Given the description of an element on the screen output the (x, y) to click on. 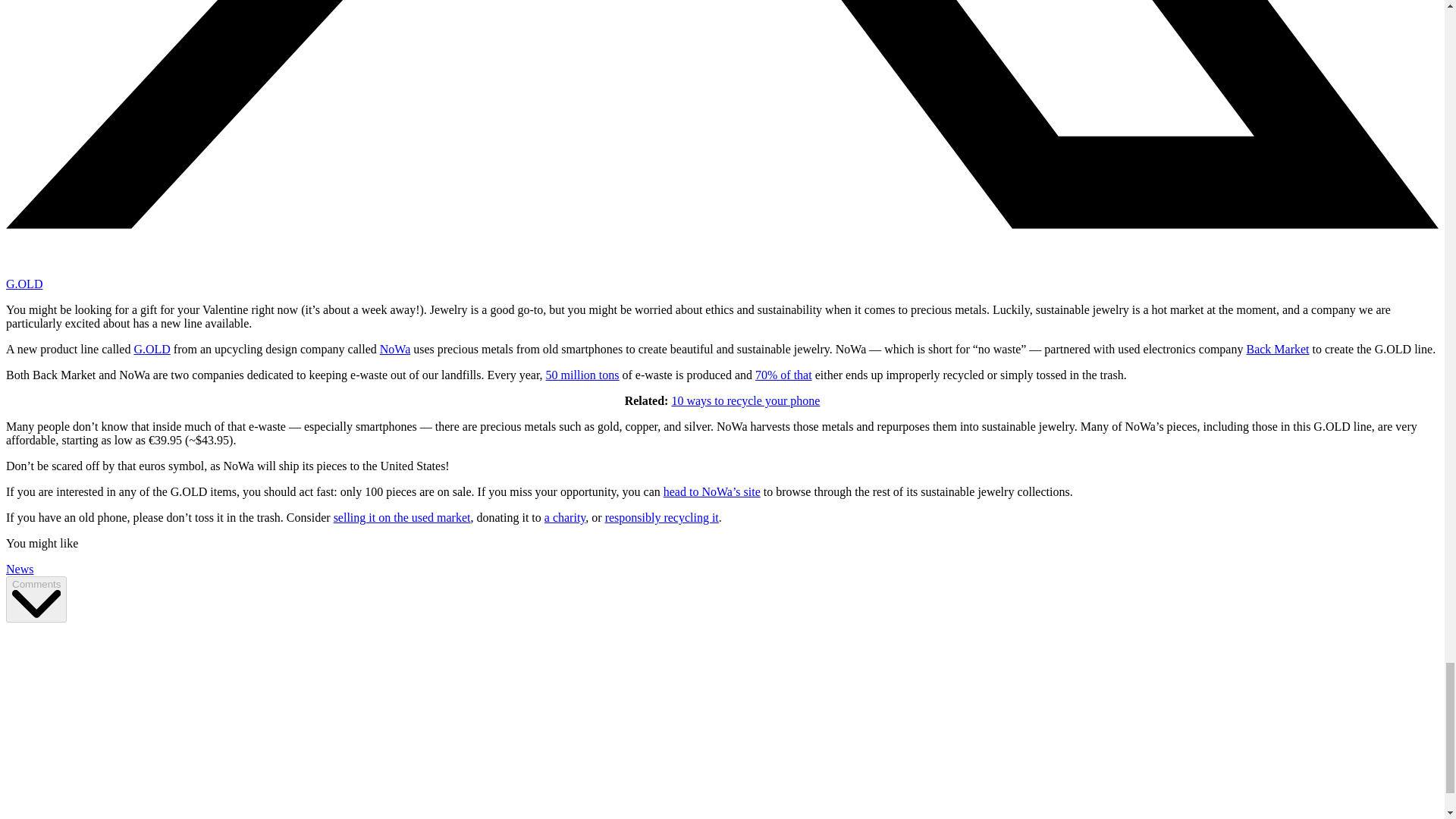
Comments (35, 599)
G.OLD (23, 283)
News (19, 568)
Back Market (1277, 349)
10 ways to recycle your phone (745, 400)
a charity (564, 517)
50 million tons (583, 374)
NoWa (395, 349)
selling it on the used market (401, 517)
G.OLD (151, 349)
responsibly recycling it (662, 517)
